Given the description of an element on the screen output the (x, y) to click on. 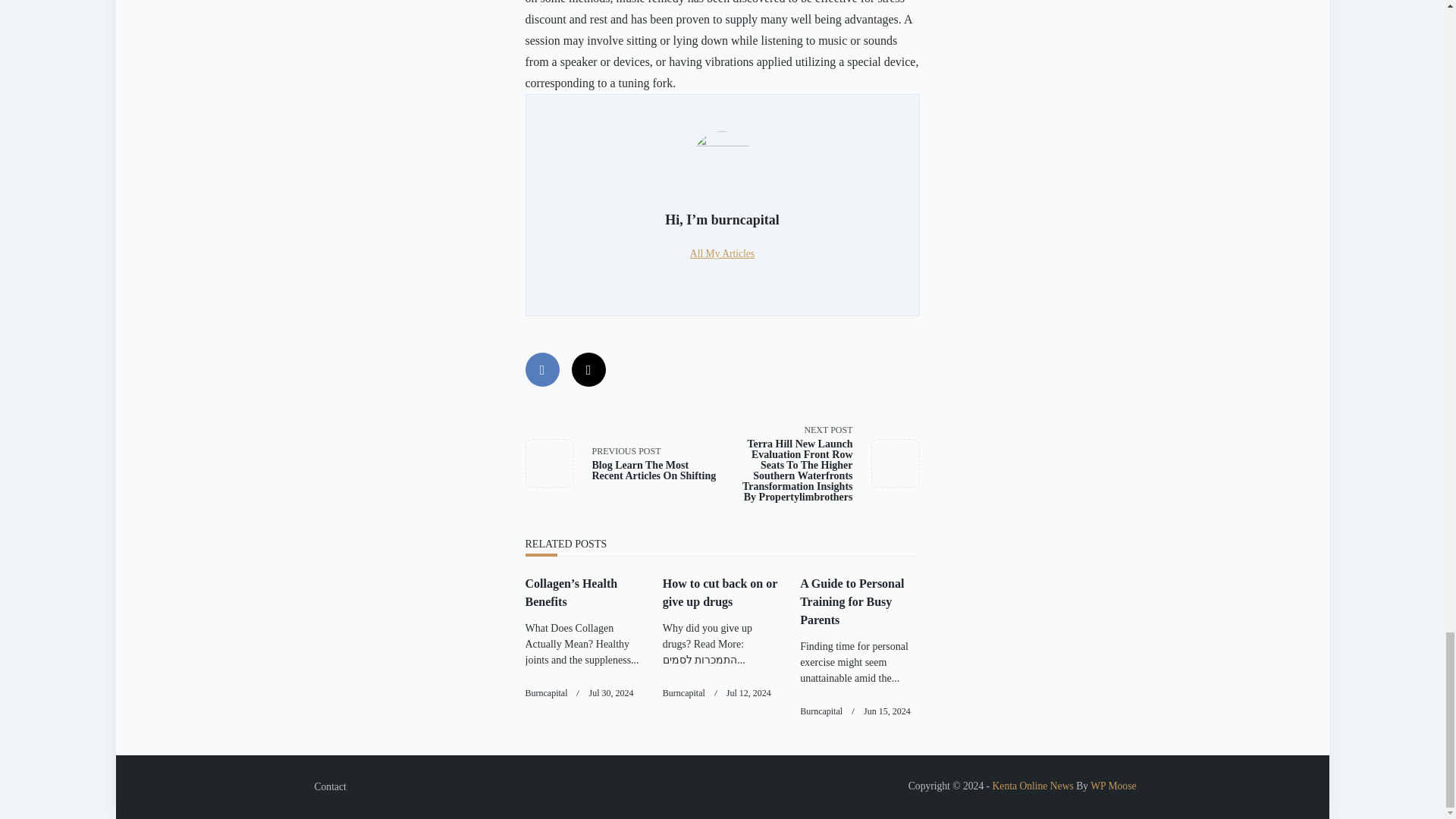
Jul 30, 2024 (610, 692)
How to cut back on or give up drugs (719, 592)
Jul 12, 2024 (748, 692)
Contact (329, 786)
Burncapital (545, 692)
Burncapital (821, 710)
A Guide to Personal Training for Busy Parents (851, 601)
All My Articles (722, 253)
Burncapital (683, 692)
